Given the description of an element on the screen output the (x, y) to click on. 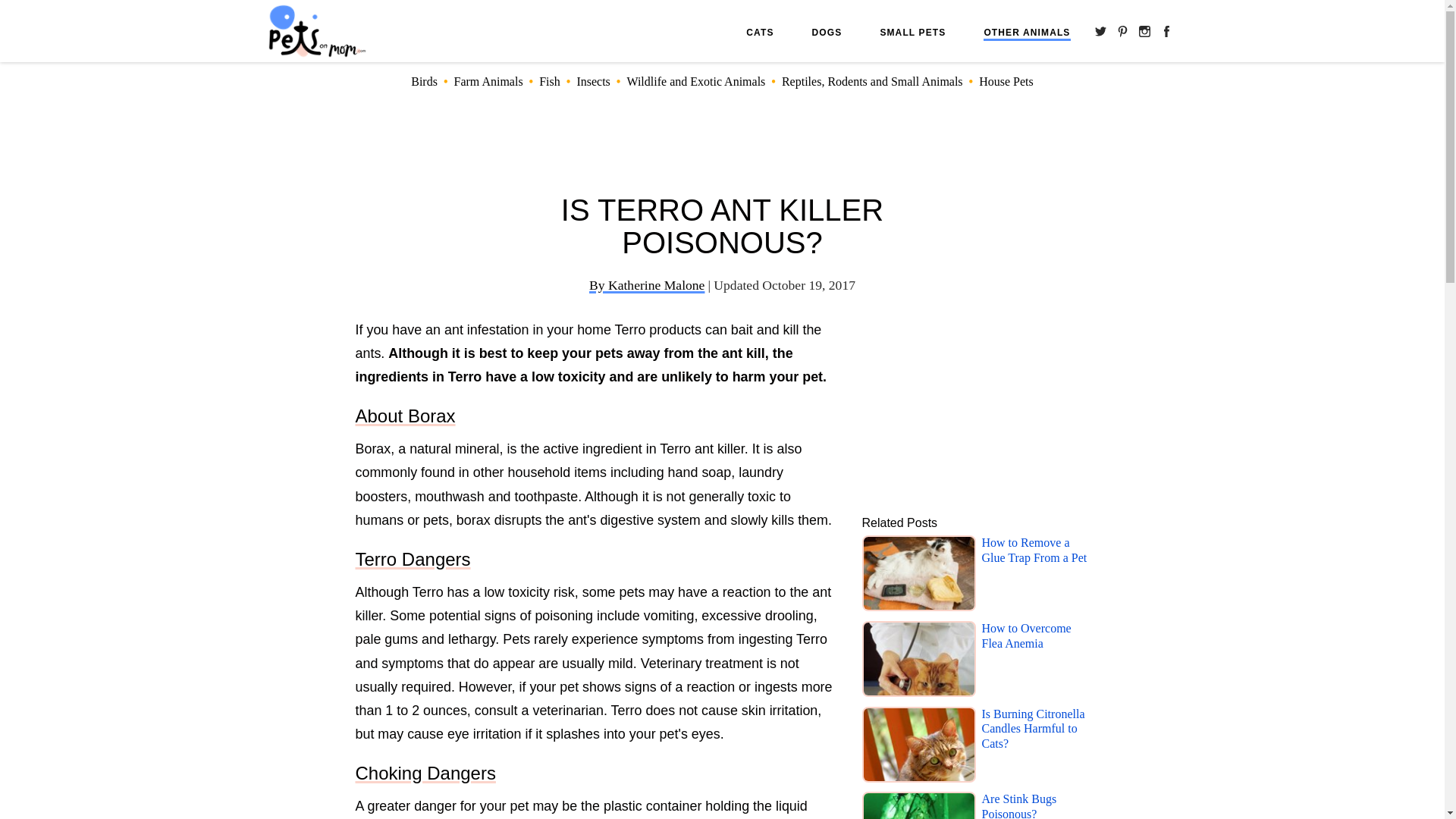
Farm Animals (487, 81)
SMALL PETS (911, 32)
OTHER ANIMALS (1027, 33)
CATS (759, 32)
Fish (549, 81)
Insects (593, 81)
Birds (424, 81)
Reptiles, Rodents and Small Animals (871, 81)
Wildlife and Exotic Animals (695, 81)
House Pets (1005, 81)
